Given the description of an element on the screen output the (x, y) to click on. 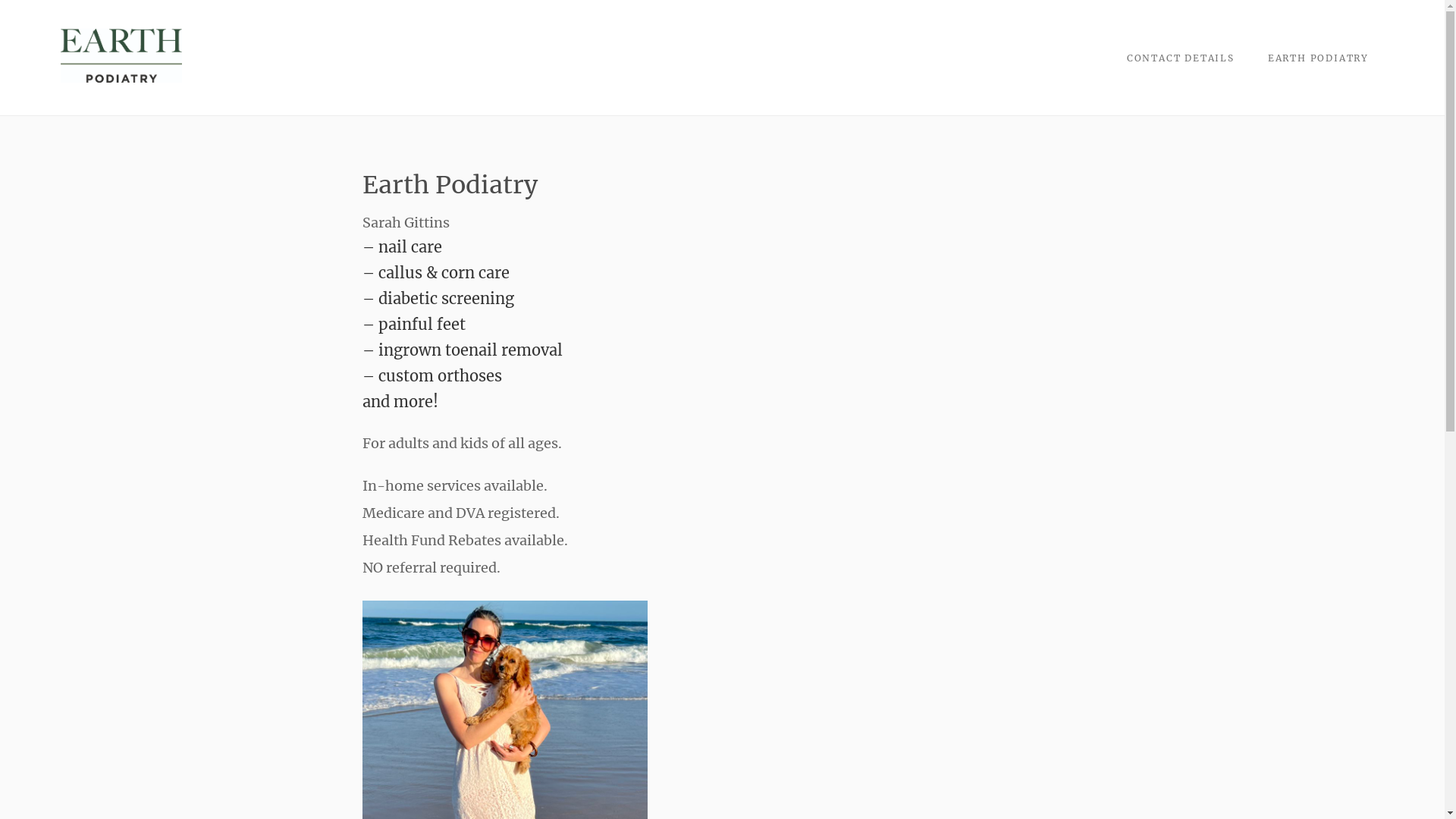
EARTH PODIATRY Element type: text (1317, 57)
CONTACT DETAILS Element type: text (1180, 57)
